Given the description of an element on the screen output the (x, y) to click on. 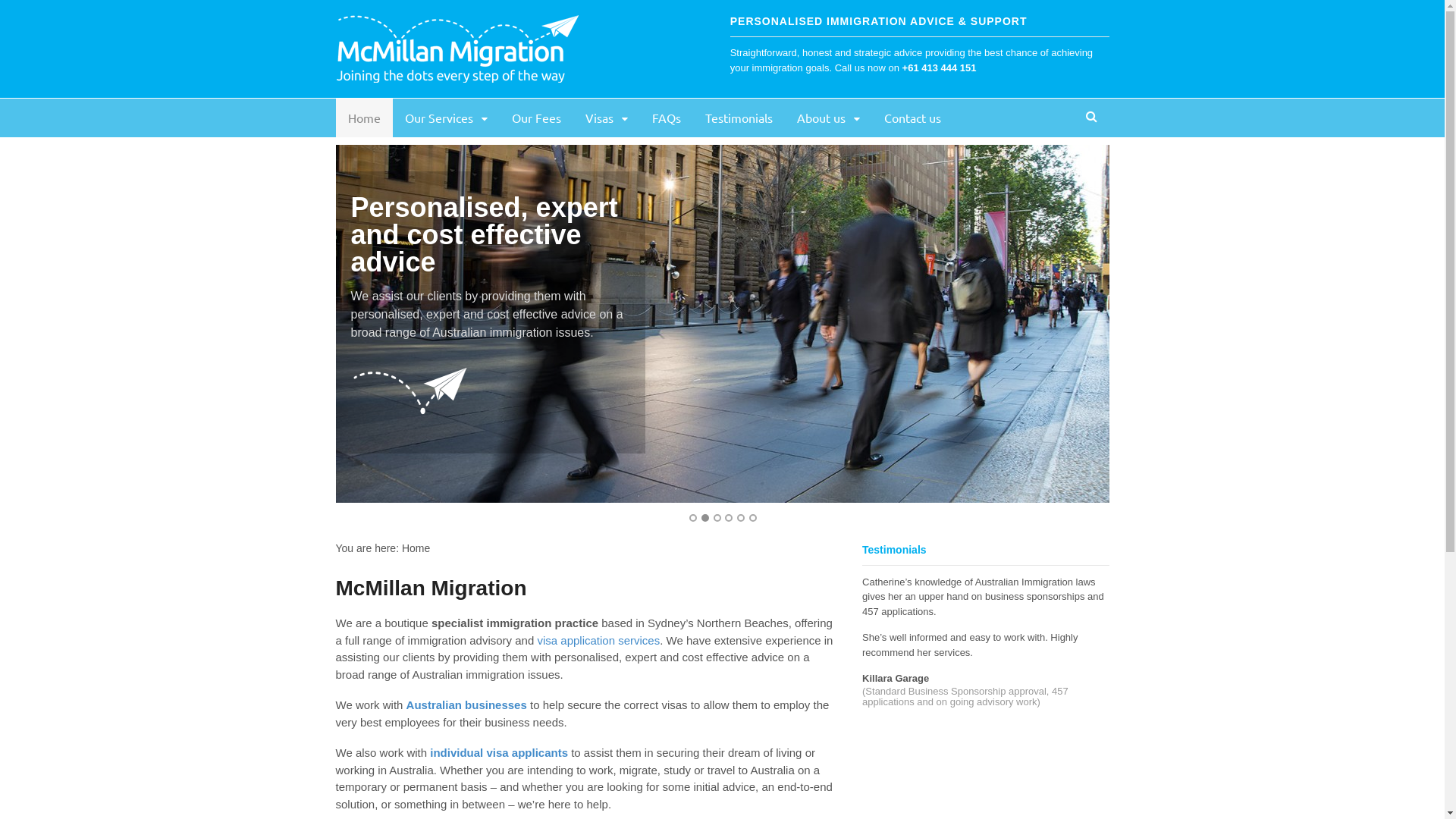
2 Element type: text (705, 517)
Visas Element type: text (606, 117)
Our Fees Element type: text (536, 117)
FAQs Element type: text (666, 117)
individual visa applicants Element type: text (498, 752)
6 Element type: text (752, 517)
Joining the dots on your VISA application Element type: hover (456, 74)
Our Services Element type: text (445, 117)
Home Element type: text (363, 117)
5 Element type: text (740, 517)
Personalised, expert and cost effective advice Element type: hover (811, 323)
1 Element type: text (692, 517)
About us Element type: text (828, 117)
Australian businesses Element type: text (466, 704)
Search Element type: text (1091, 158)
Testimonials Element type: text (738, 117)
Contact us Element type: text (912, 117)
4 Element type: text (728, 517)
3 Element type: text (717, 517)
visa application services Element type: text (597, 639)
